Given the description of an element on the screen output the (x, y) to click on. 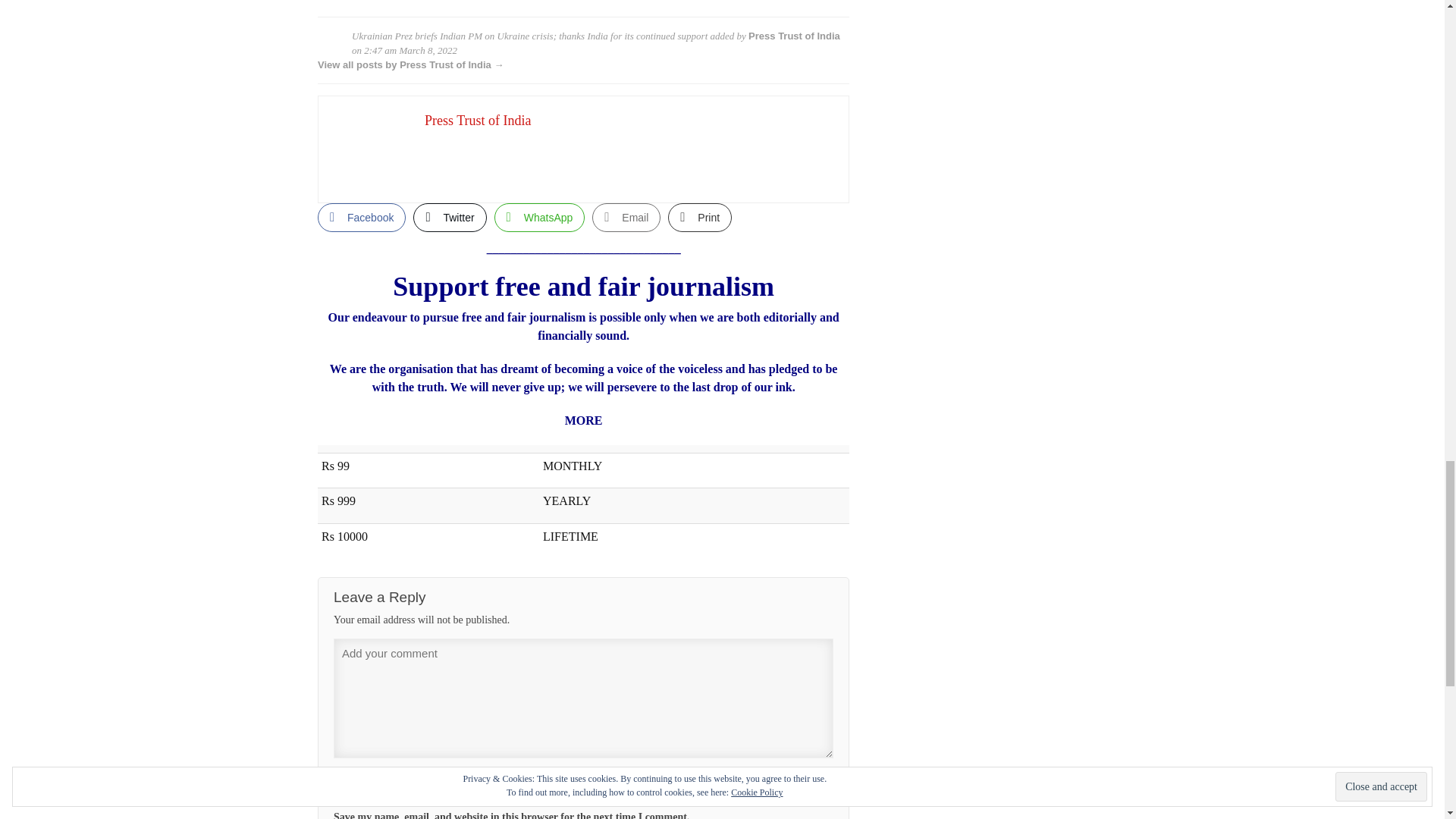
yes (827, 781)
